Given the description of an element on the screen output the (x, y) to click on. 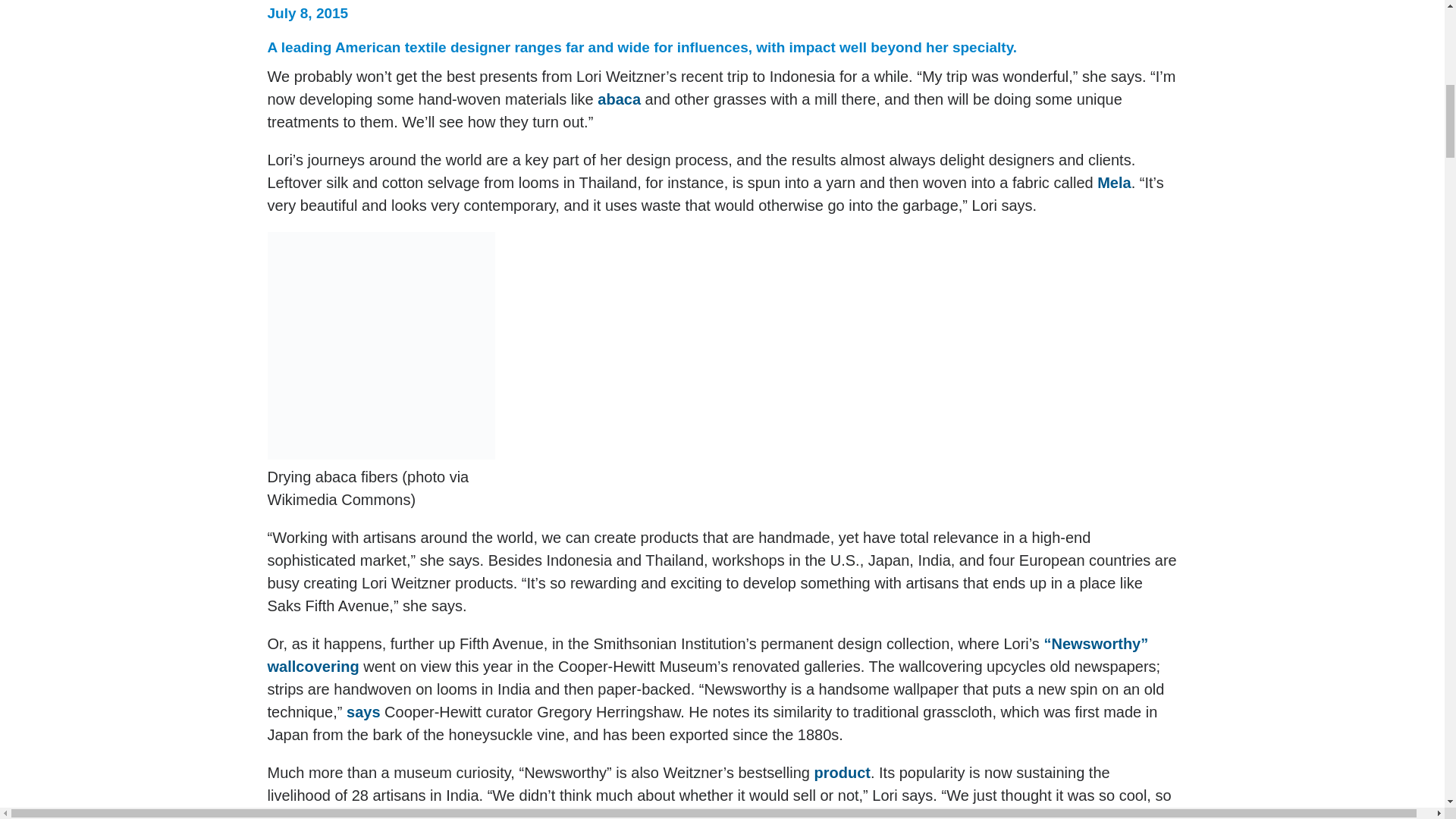
says (363, 711)
abaca (618, 98)
Mela (1114, 182)
Back to Top (19, 22)
product (841, 772)
